Given the description of an element on the screen output the (x, y) to click on. 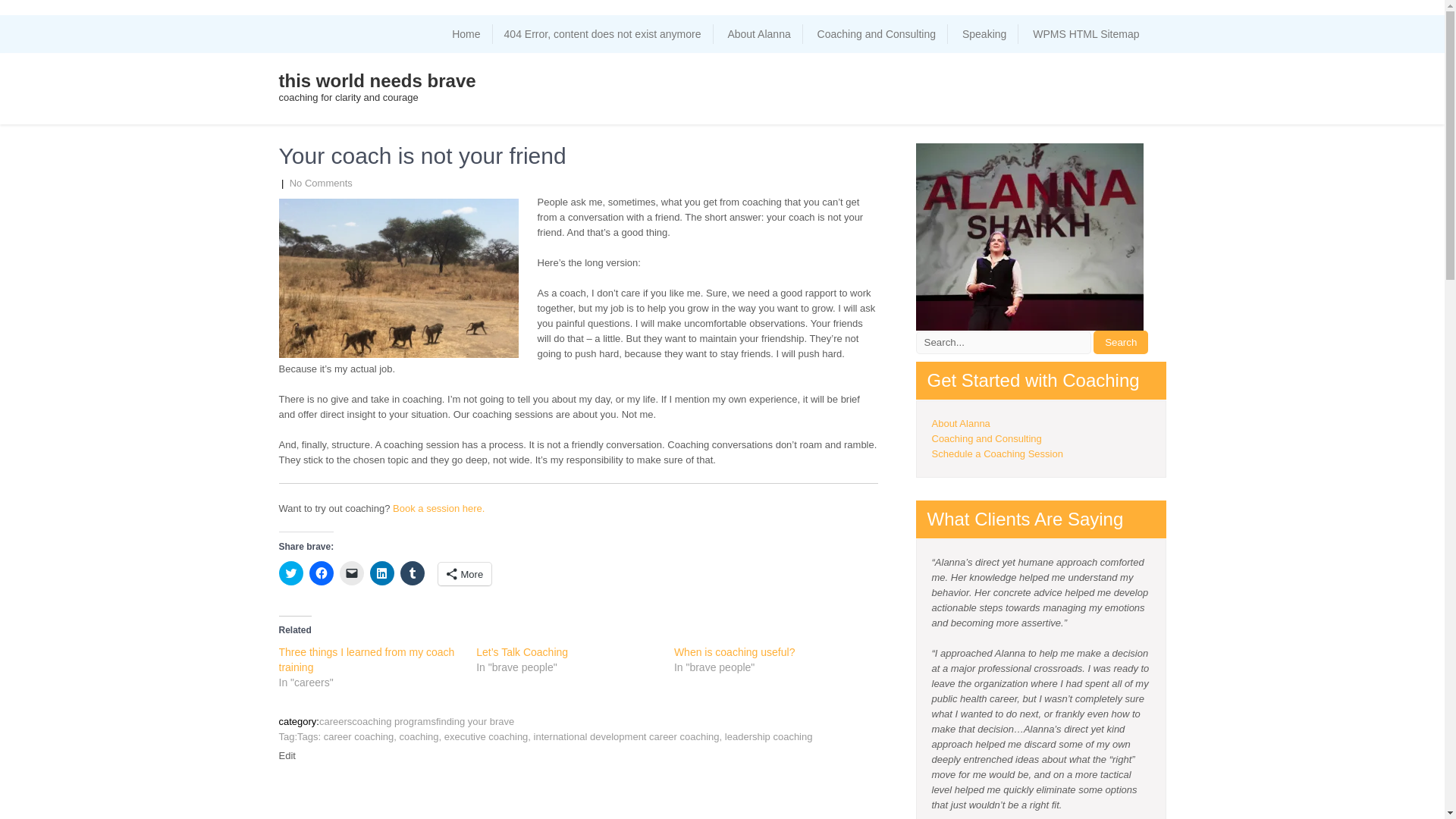
careers (335, 721)
Click to share on Tumblr (412, 573)
When is coaching useful? (734, 652)
executive coaching (486, 736)
Coaching and Consulting (986, 438)
No Comments (320, 183)
About Alanna (960, 423)
Search (1120, 341)
Search (1120, 341)
coaching programs (393, 721)
About Alanna (759, 34)
Speaking (983, 34)
leadership coaching (768, 736)
More (465, 573)
Click to email a link to a friend (351, 573)
